Given the description of an element on the screen output the (x, y) to click on. 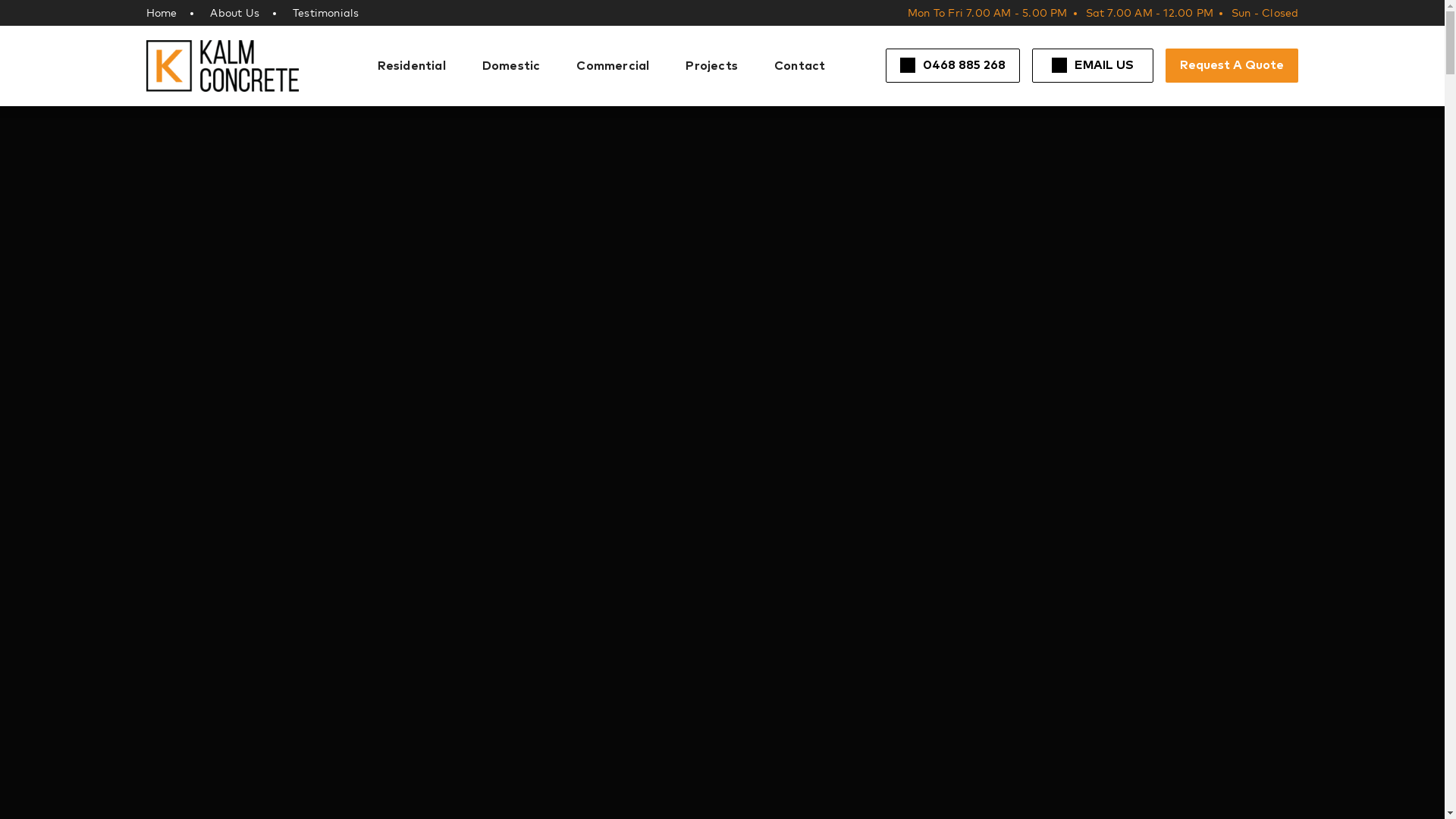
Domestic Element type: text (511, 65)
About Us Element type: text (234, 12)
Request A Quote Element type: text (1231, 65)
Home Element type: text (160, 12)
0468 885 268 Element type: text (952, 65)
Contact Element type: text (799, 65)
Residential Element type: text (411, 65)
EMAIL US Element type: text (1092, 65)
Testimonials Element type: text (325, 12)
Projects Element type: text (711, 65)
Commercial Element type: text (612, 65)
